Given the description of an element on the screen output the (x, y) to click on. 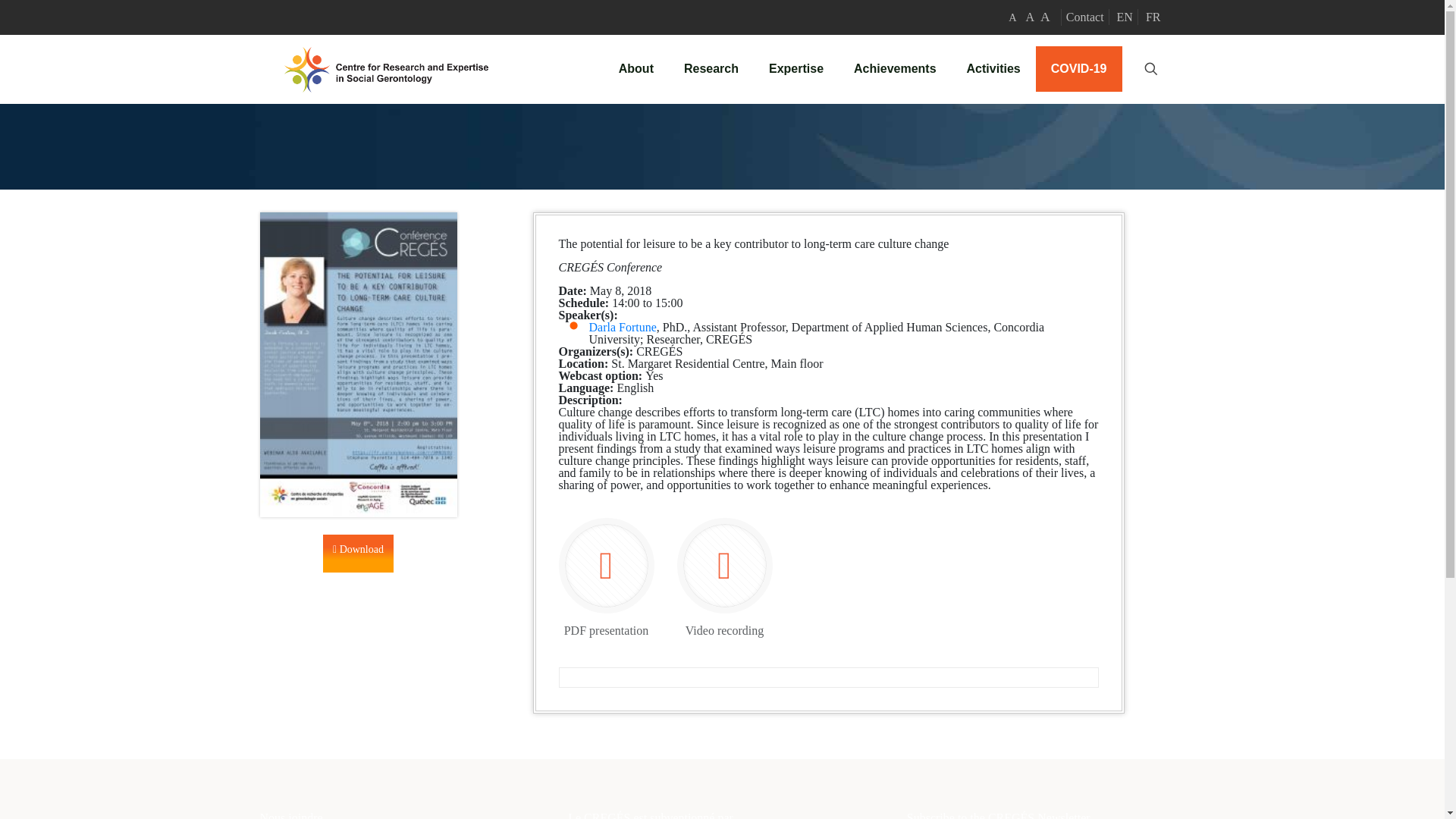
FR (1152, 17)
Contact (1084, 16)
EN (1124, 17)
About (636, 69)
FR (1152, 17)
EN (1124, 17)
Achievements (895, 69)
Expertise (796, 69)
Research (711, 69)
